Given the description of an element on the screen output the (x, y) to click on. 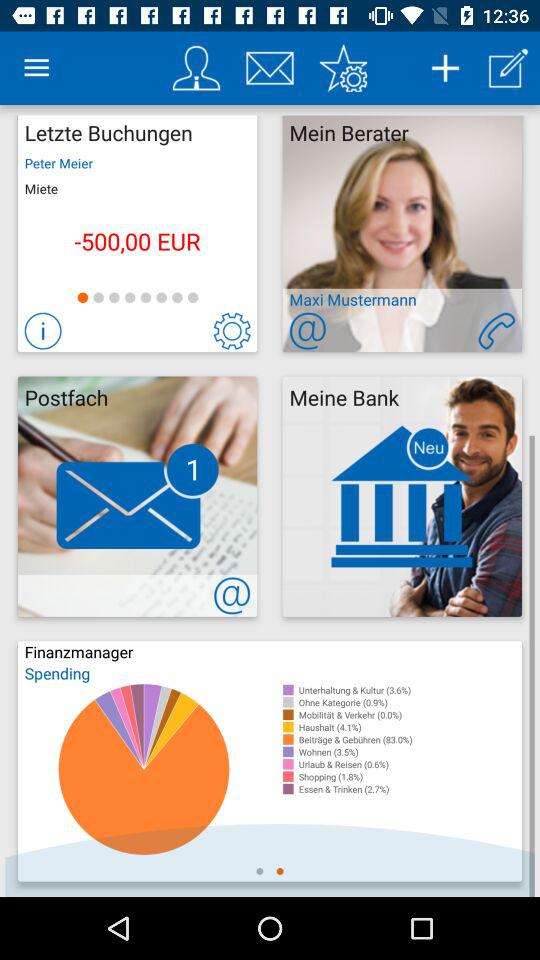
go to favorites (343, 67)
